Given the description of an element on the screen output the (x, y) to click on. 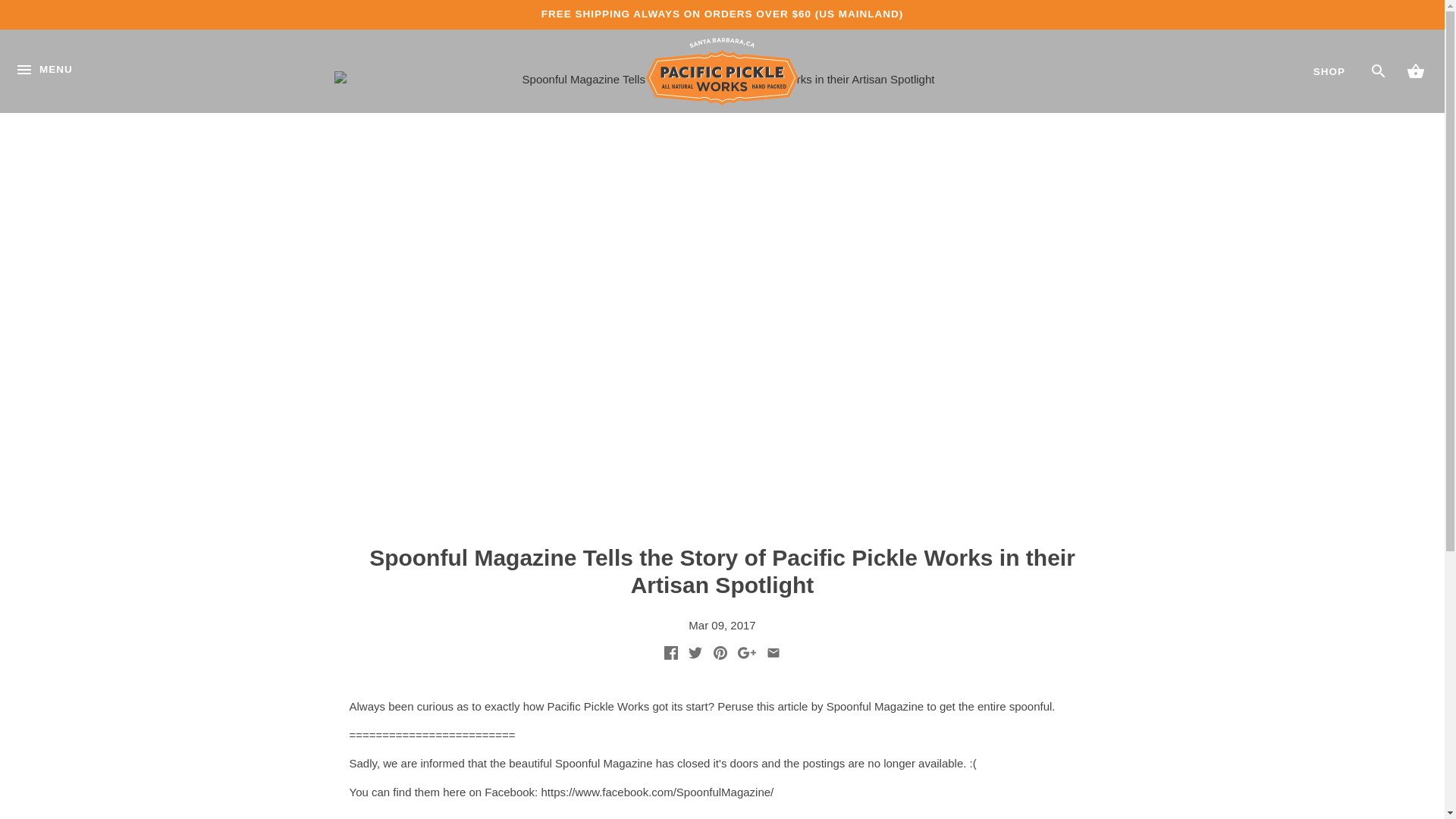
Email this product to somebody (773, 655)
Share on Twitter (694, 655)
SHOP (1329, 70)
MENU (43, 86)
CART (1414, 71)
SEARCH (1378, 70)
Pin the main image (719, 655)
Share on Facebook (670, 655)
CART (1414, 69)
SEARCH (1378, 71)
